Given the description of an element on the screen output the (x, y) to click on. 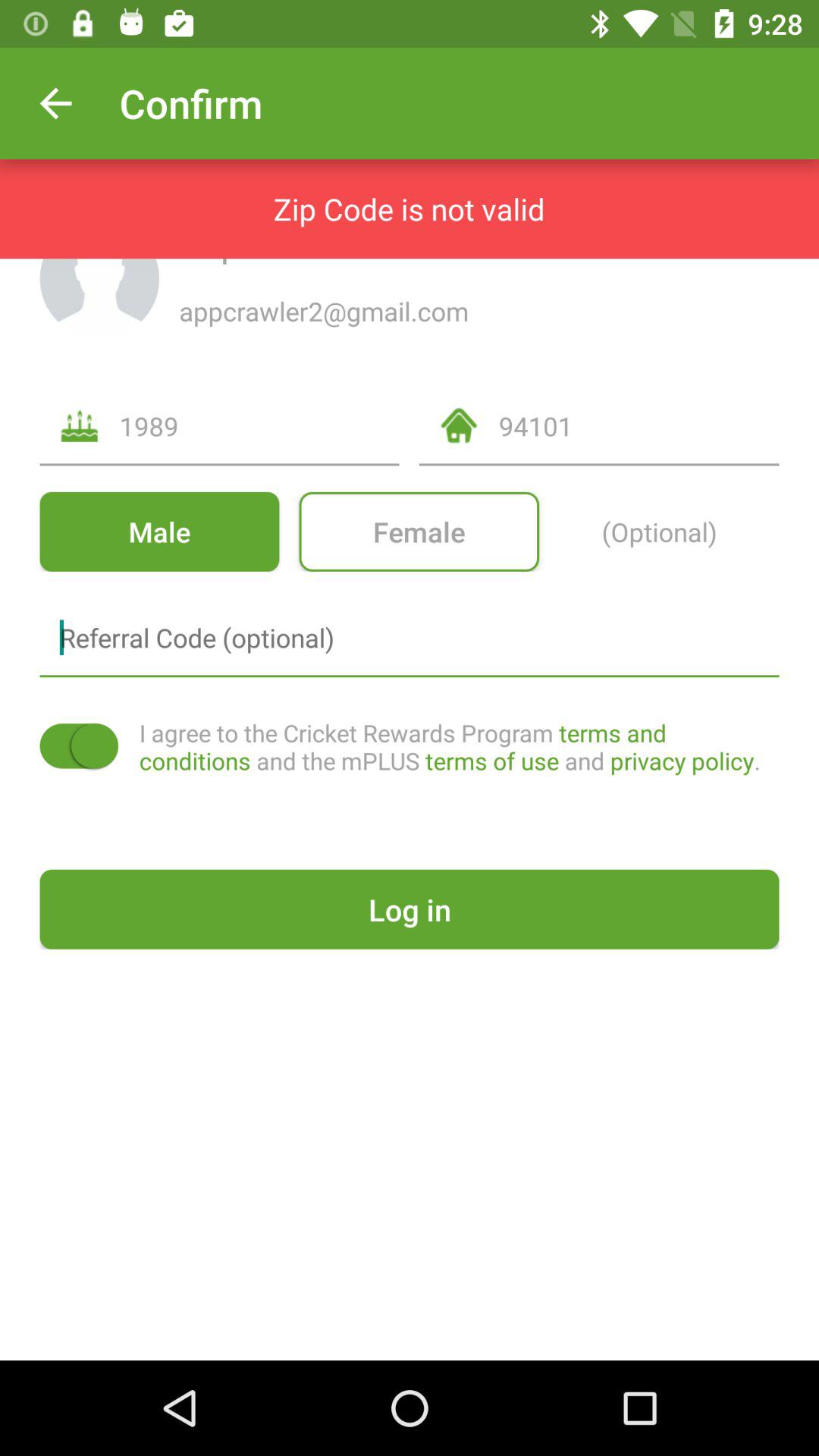
open the icon below the 1989 icon (159, 531)
